Given the description of an element on the screen output the (x, y) to click on. 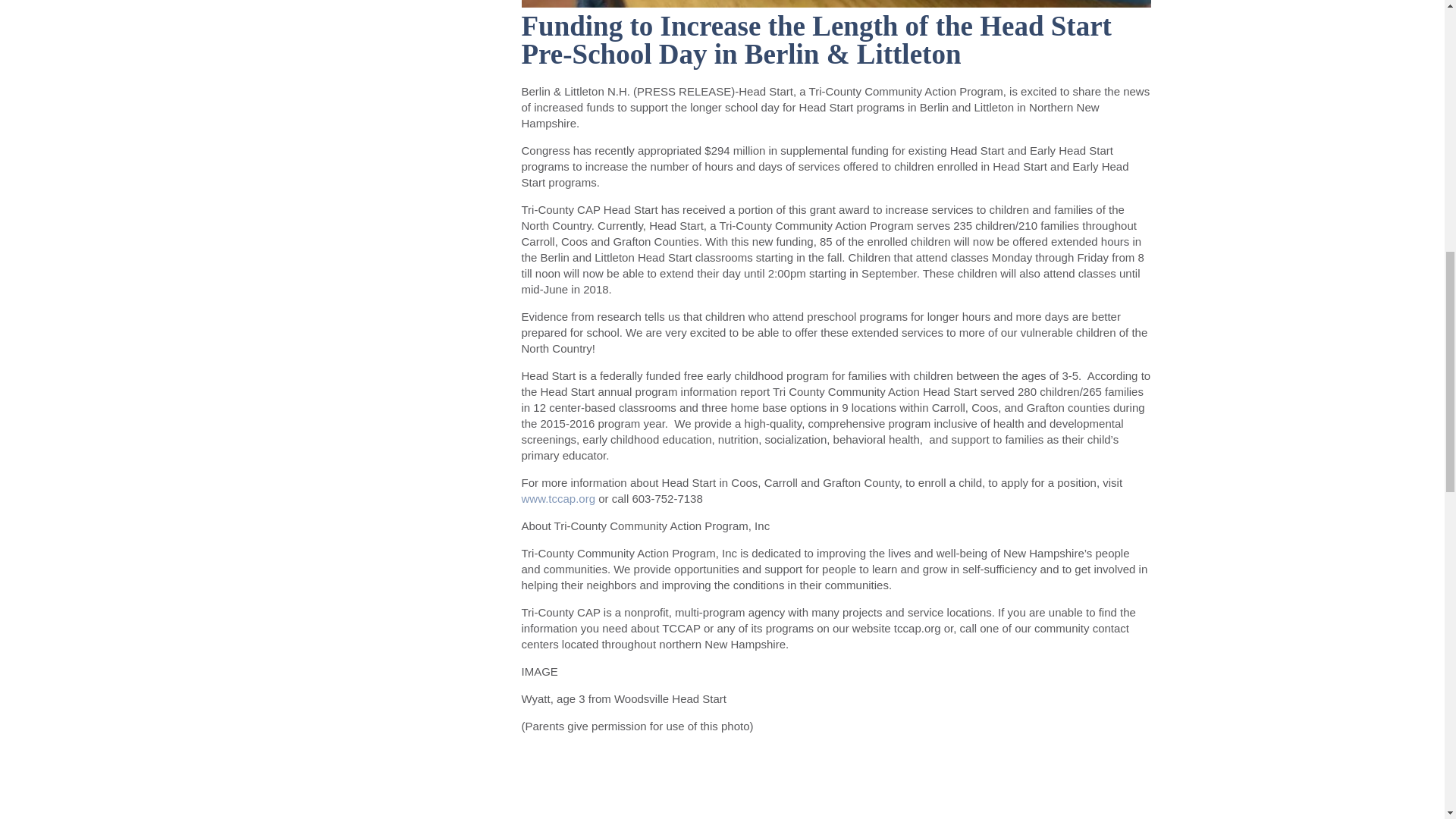
www.tccap.org (558, 498)
